Given the description of an element on the screen output the (x, y) to click on. 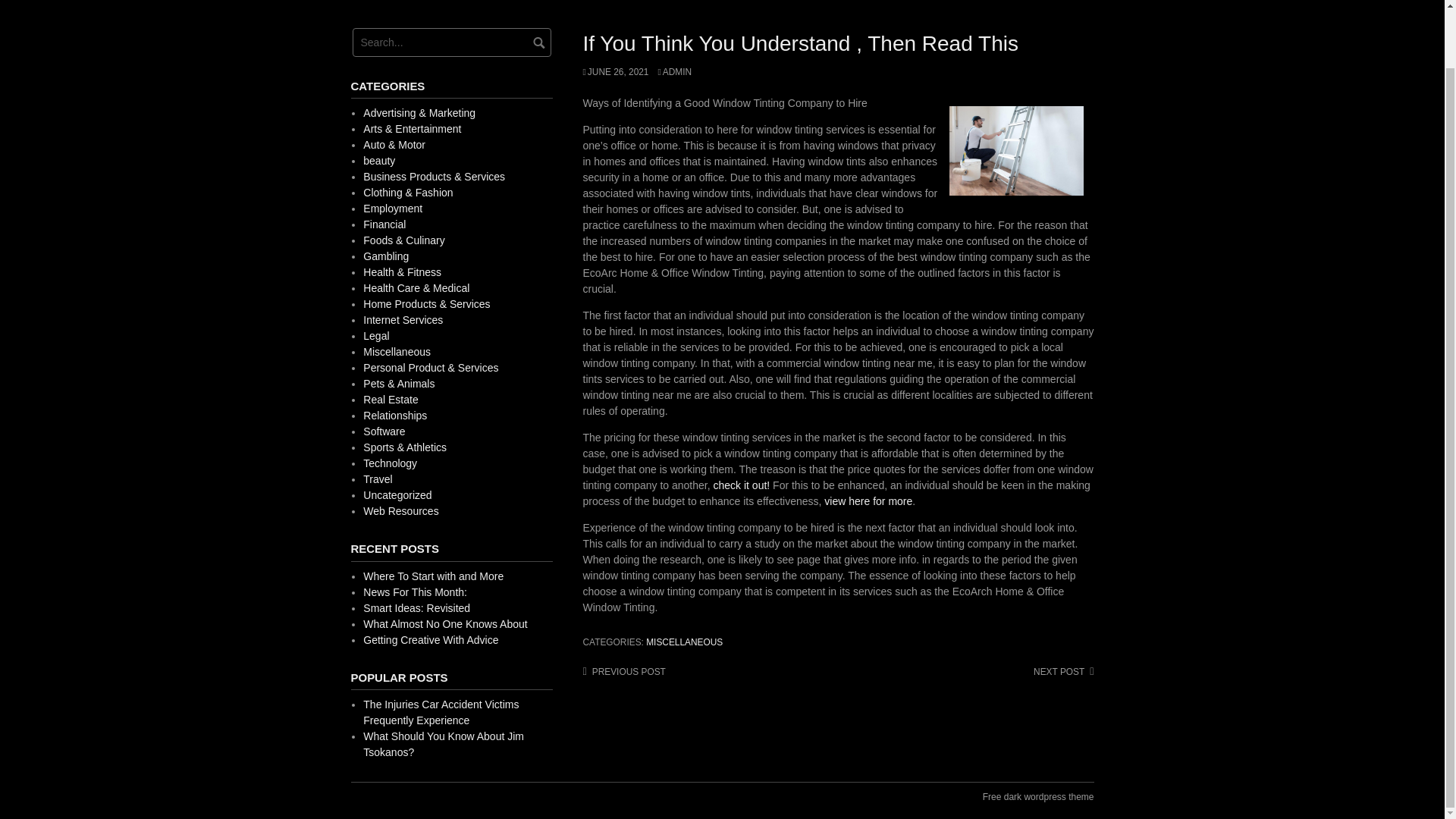
Financial (384, 224)
Software (383, 431)
News For This Month: (414, 592)
Miscellaneous (396, 351)
Search for: (451, 41)
The Injuries Car Accident Victims Frequently Experience (440, 712)
Uncategorized (396, 494)
Employment (392, 208)
view here for more (868, 500)
Gambling (385, 256)
MISCELLANEOUS (684, 642)
Where To Start with and More (432, 576)
JUNE 26, 2021 (614, 71)
ADMIN (674, 71)
Internet Services (402, 319)
